Given the description of an element on the screen output the (x, y) to click on. 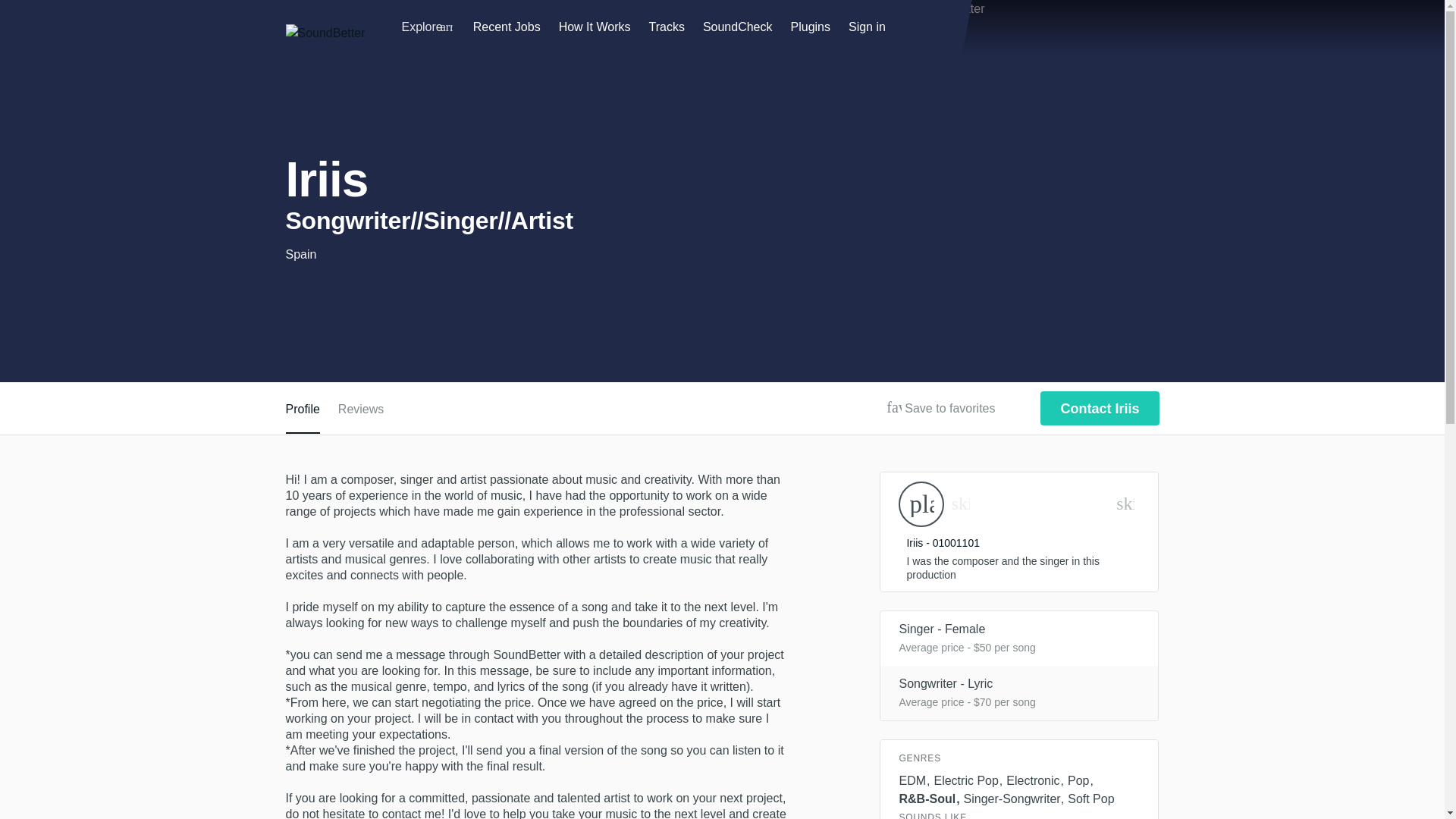
Save to favorites (893, 407)
SoundBetter (325, 33)
